Given the description of an element on the screen output the (x, y) to click on. 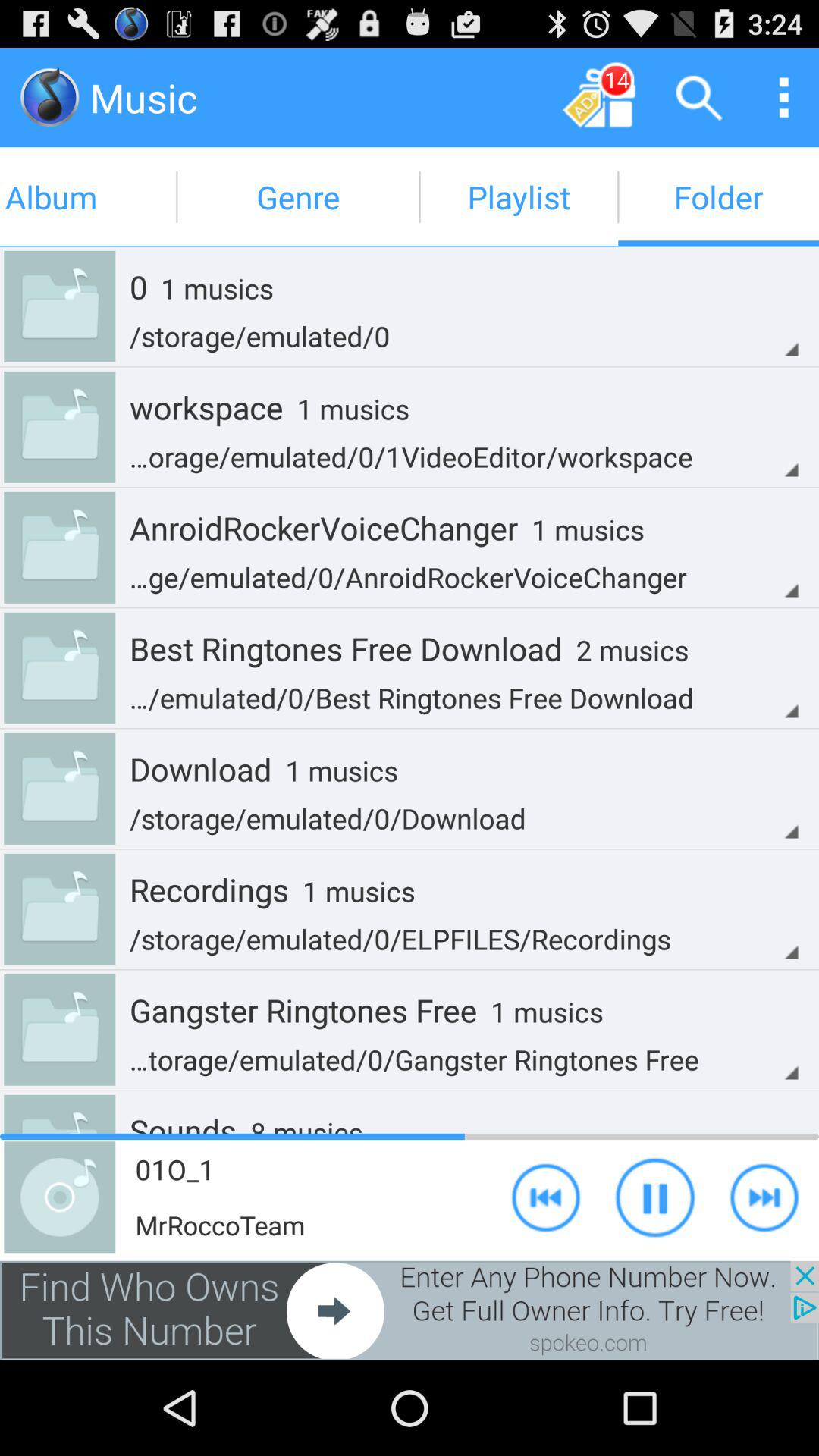
go to play option (654, 1196)
